Given the description of an element on the screen output the (x, y) to click on. 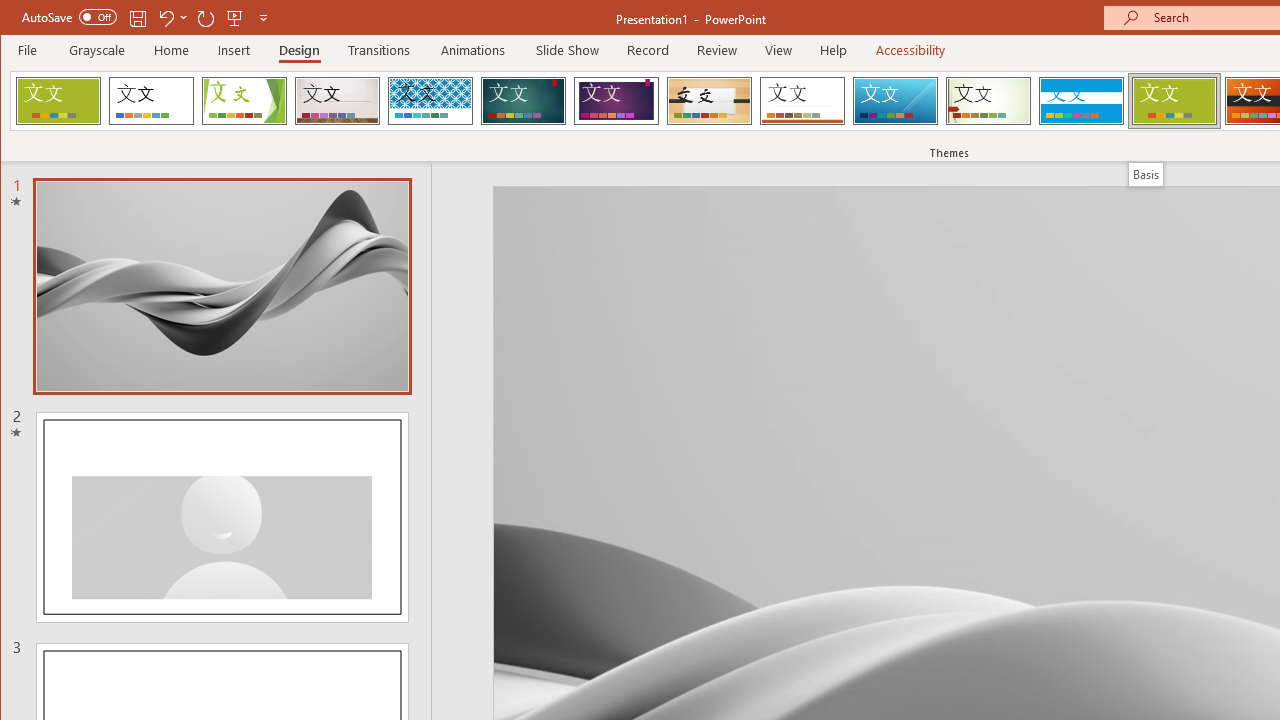
Basis (1145, 174)
Berlin (57, 100)
Organic (709, 100)
Banded (1081, 100)
Wisp (988, 100)
